Given the description of an element on the screen output the (x, y) to click on. 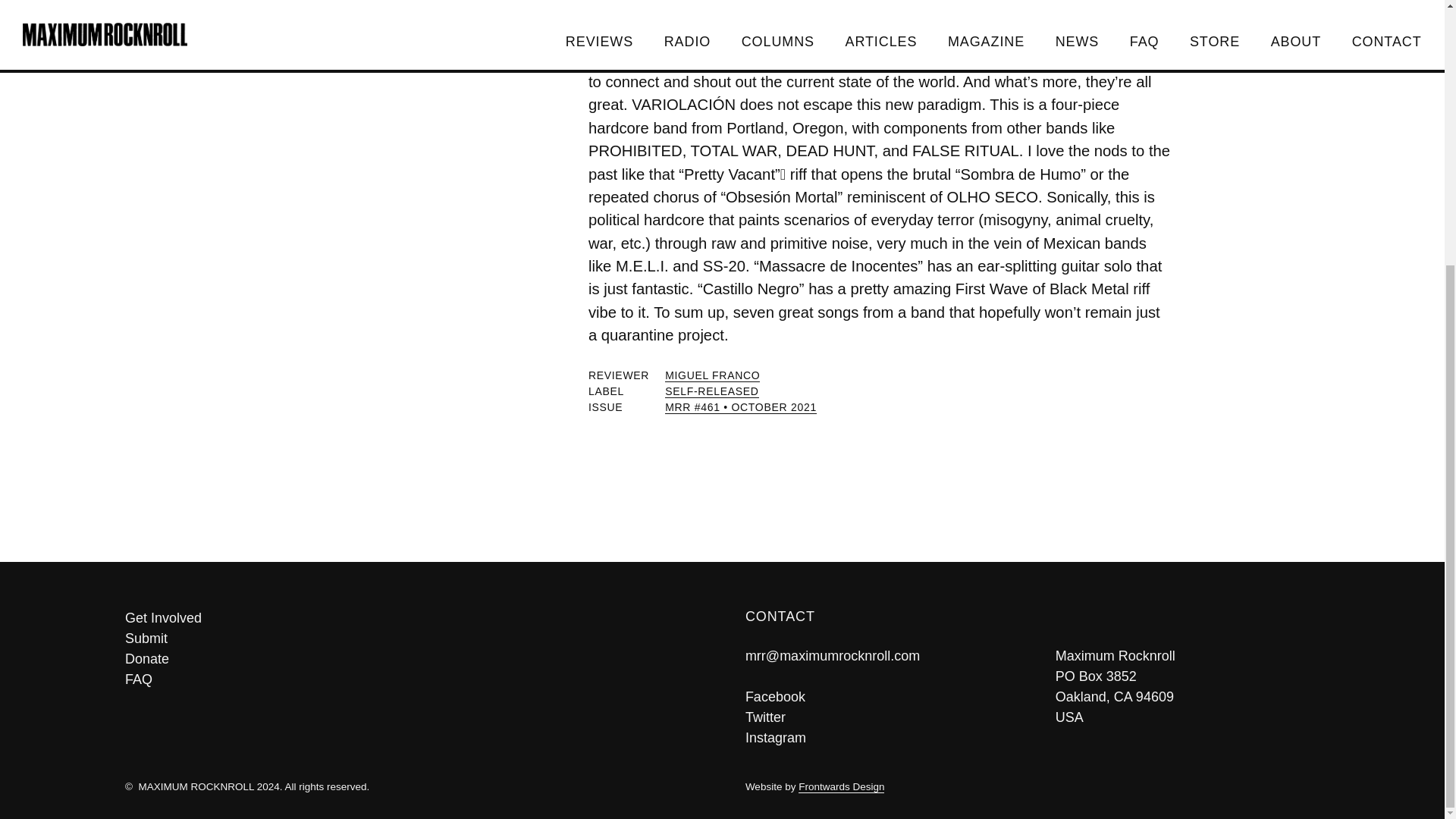
Frontwards Design (840, 787)
MIGUEL FRANCO (712, 375)
SELF-RELEASED (711, 391)
Twitter (765, 717)
Submit (411, 638)
Facebook (775, 696)
Instagram (775, 737)
FAQ (411, 679)
Donate (411, 659)
Get Involved (411, 618)
